Given the description of an element on the screen output the (x, y) to click on. 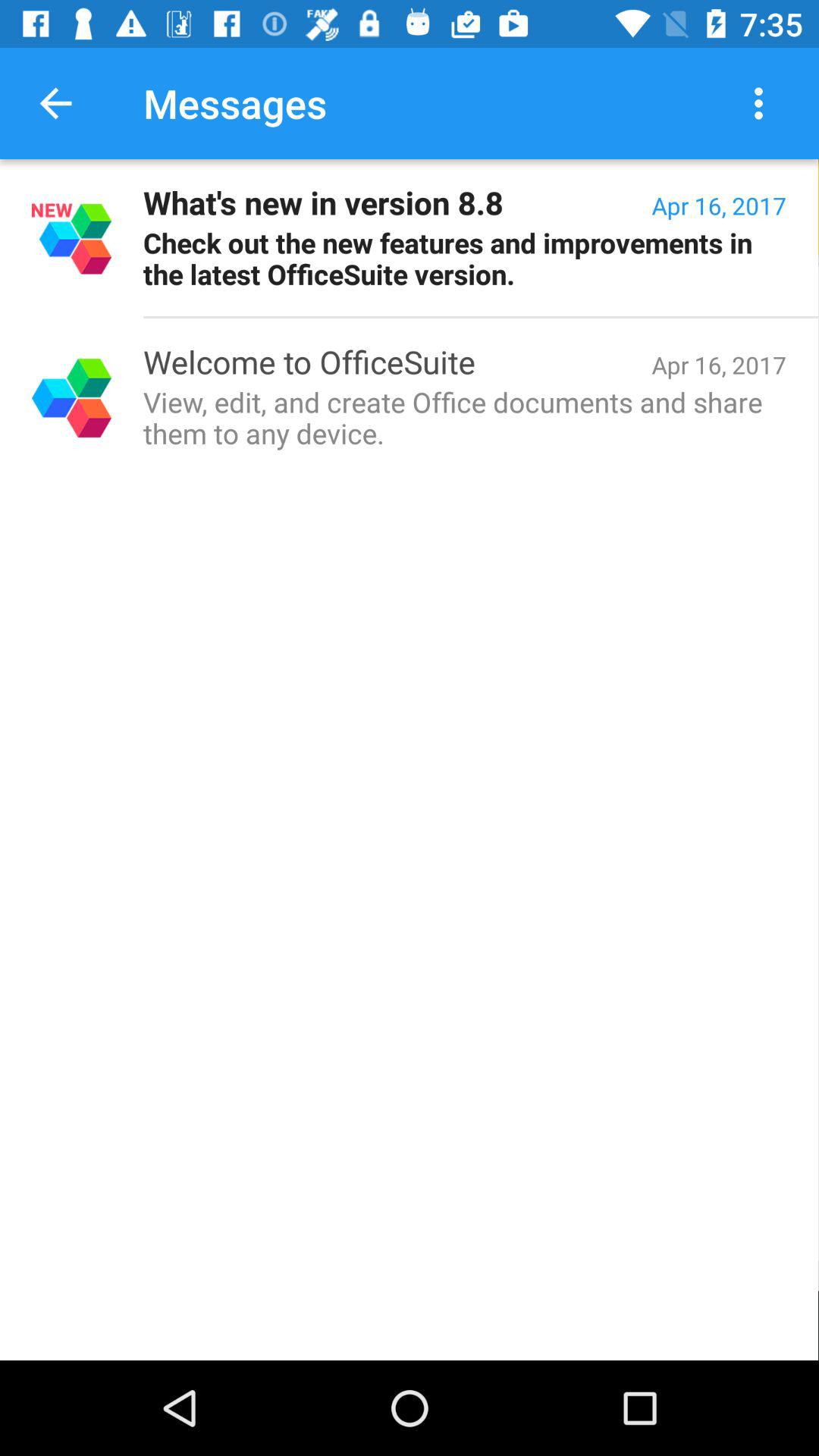
turn off icon next to the messages icon (762, 103)
